Given the description of an element on the screen output the (x, y) to click on. 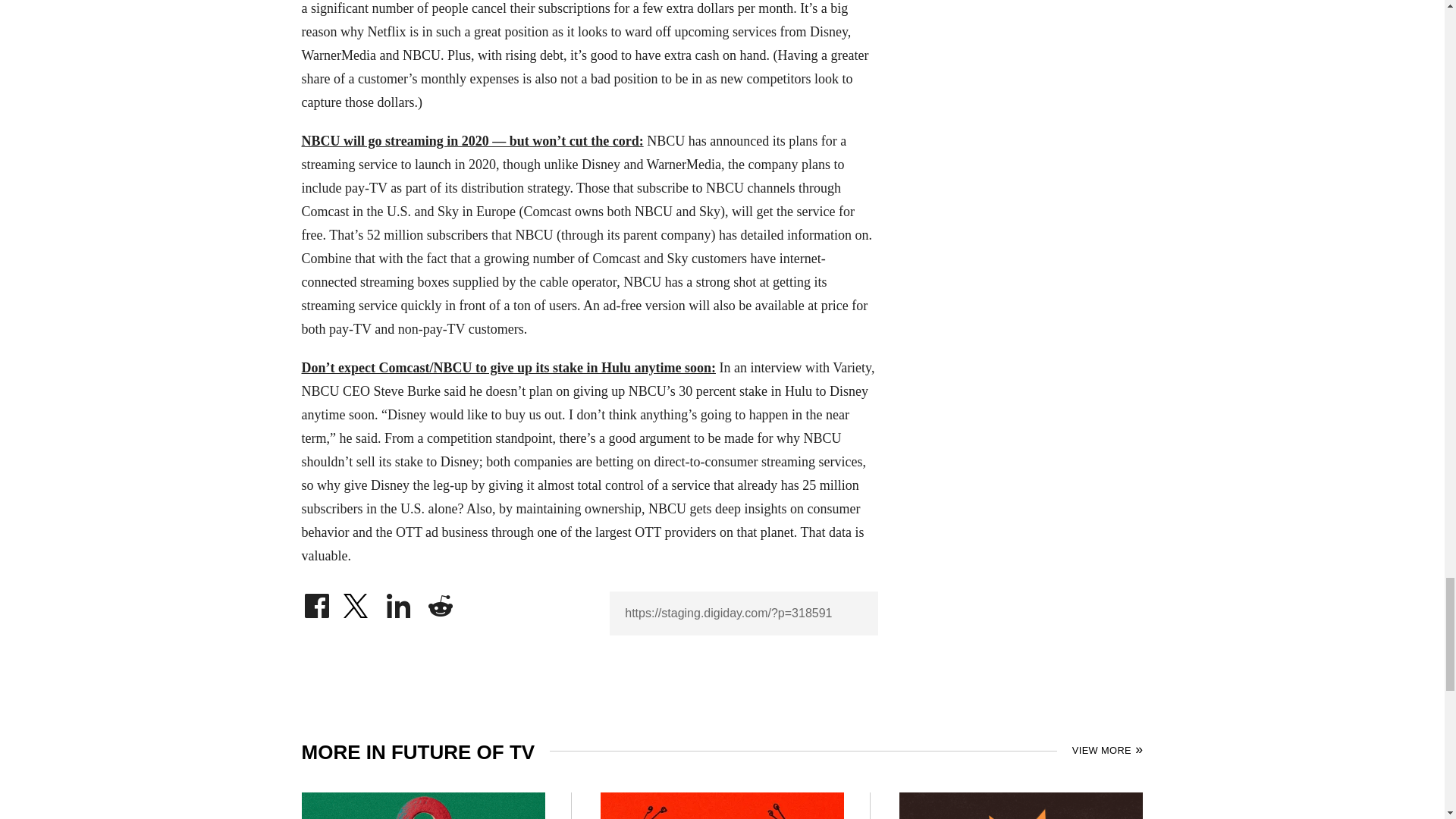
Share on Twitter (357, 601)
Share on Facebook (316, 601)
Share on Reddit (440, 601)
Share on LinkedIn (398, 601)
